Given the description of an element on the screen output the (x, y) to click on. 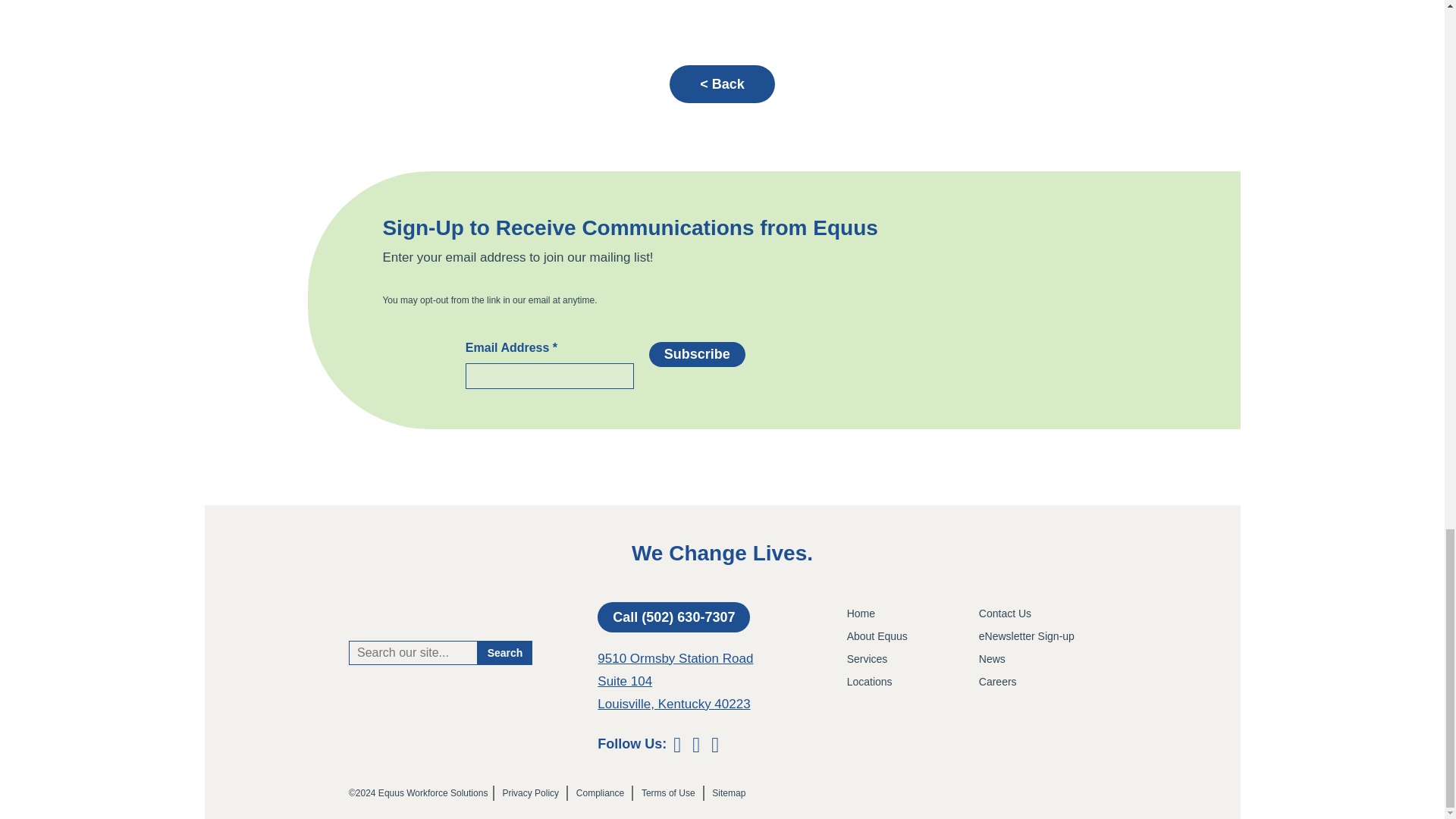
Services (905, 658)
Contact Us (1037, 612)
Subscribe (697, 354)
Locations (905, 681)
eNewsletter Sign-up (1037, 635)
Search (504, 652)
Search (504, 652)
About Equus (905, 635)
Search (504, 652)
